Given the description of an element on the screen output the (x, y) to click on. 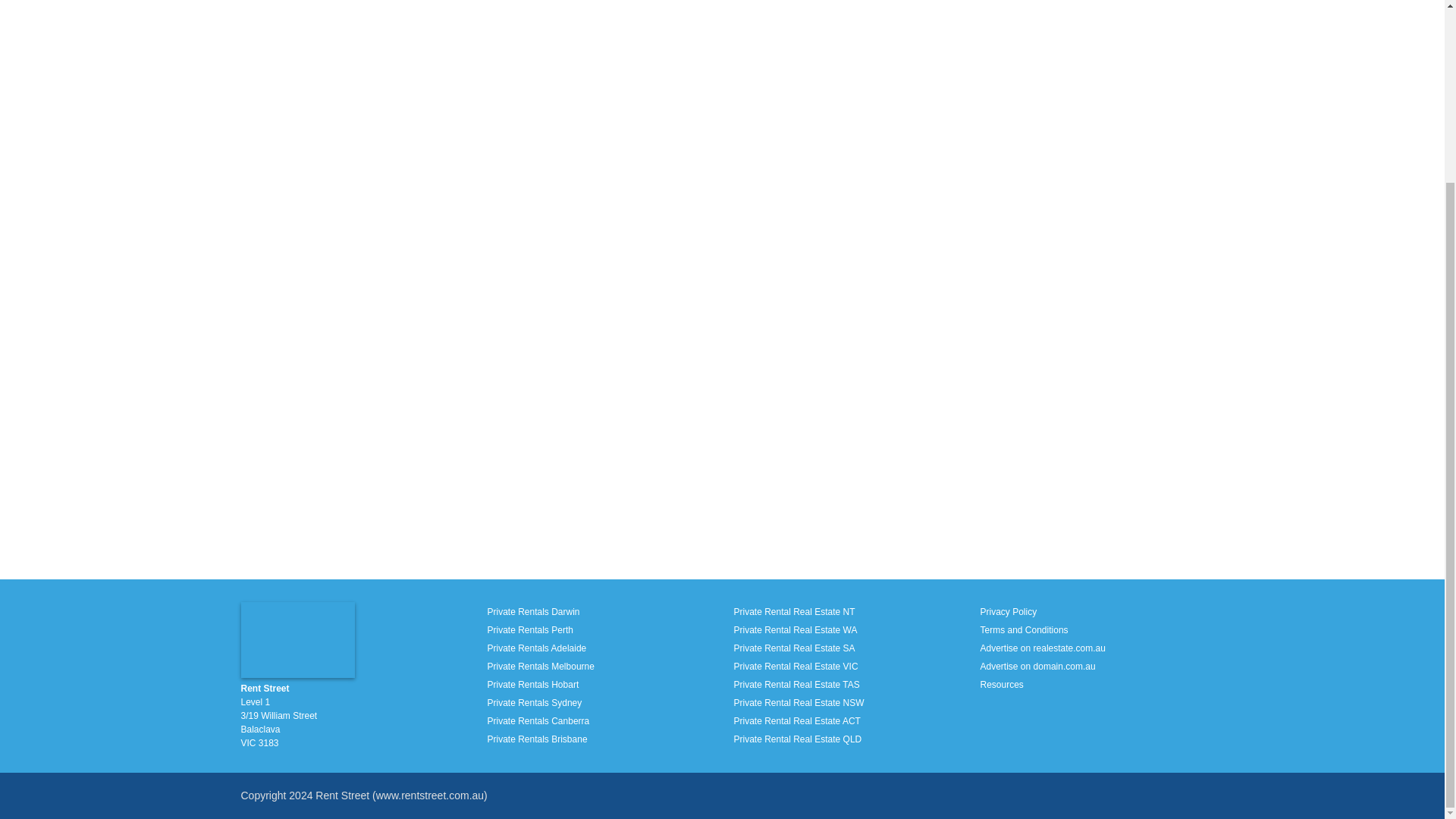
Private Rental Real Estate NSW (798, 702)
Advertise on domain.com.au (1036, 665)
Private Rental Real Estate VIC (796, 665)
Private Rental Real Estate NT (794, 611)
Private Rentals Darwin (532, 611)
Private Rental Real Estate QLD (797, 738)
Advertise on realestate.com.au (1042, 647)
Private Rentals Sydney (533, 702)
Privacy Policy (1007, 611)
Private Rental Real Estate WA (795, 629)
Private Rentals Canberra (537, 720)
Private Rentals Hobart (532, 684)
Private Rentals Adelaide (536, 647)
Private Rental Real Estate SA (794, 647)
Private Rentals Melbourne (540, 665)
